Given the description of an element on the screen output the (x, y) to click on. 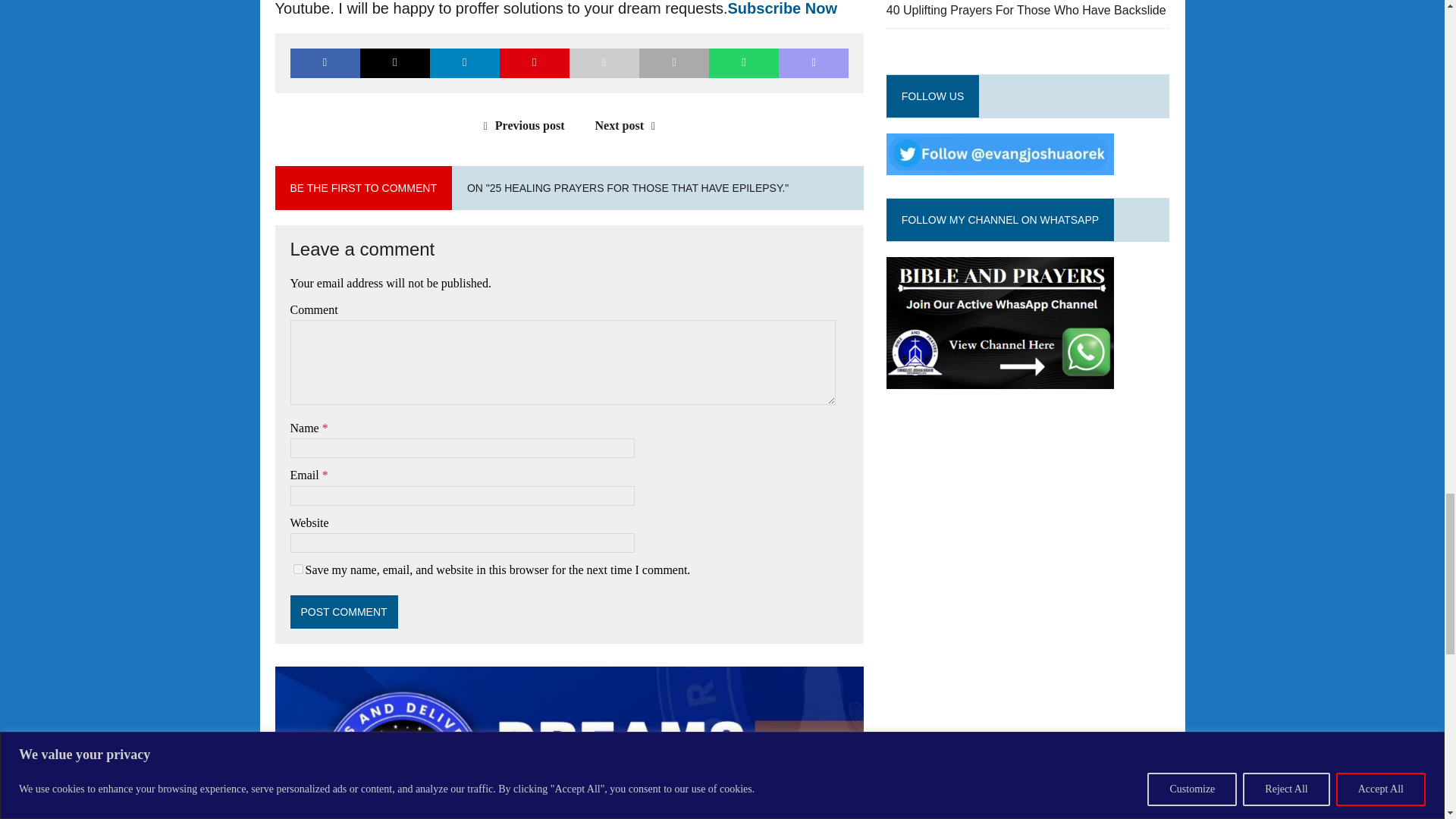
yes (297, 569)
Share on LinkedIn (464, 62)
Tweet This Post (394, 62)
Share on Facebook (324, 62)
Post Comment (343, 611)
